Given the description of an element on the screen output the (x, y) to click on. 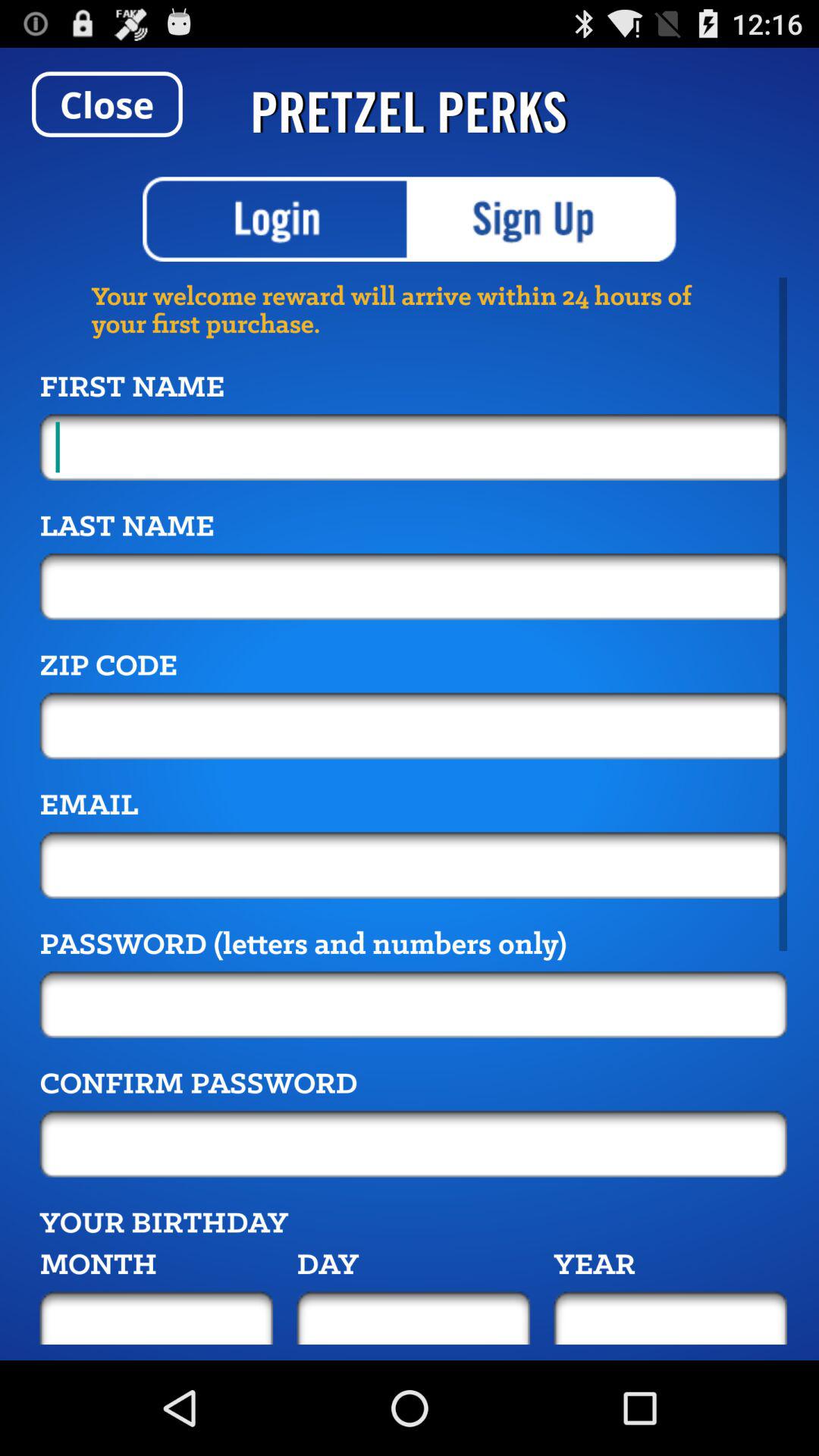
add year (670, 1317)
